Given the description of an element on the screen output the (x, y) to click on. 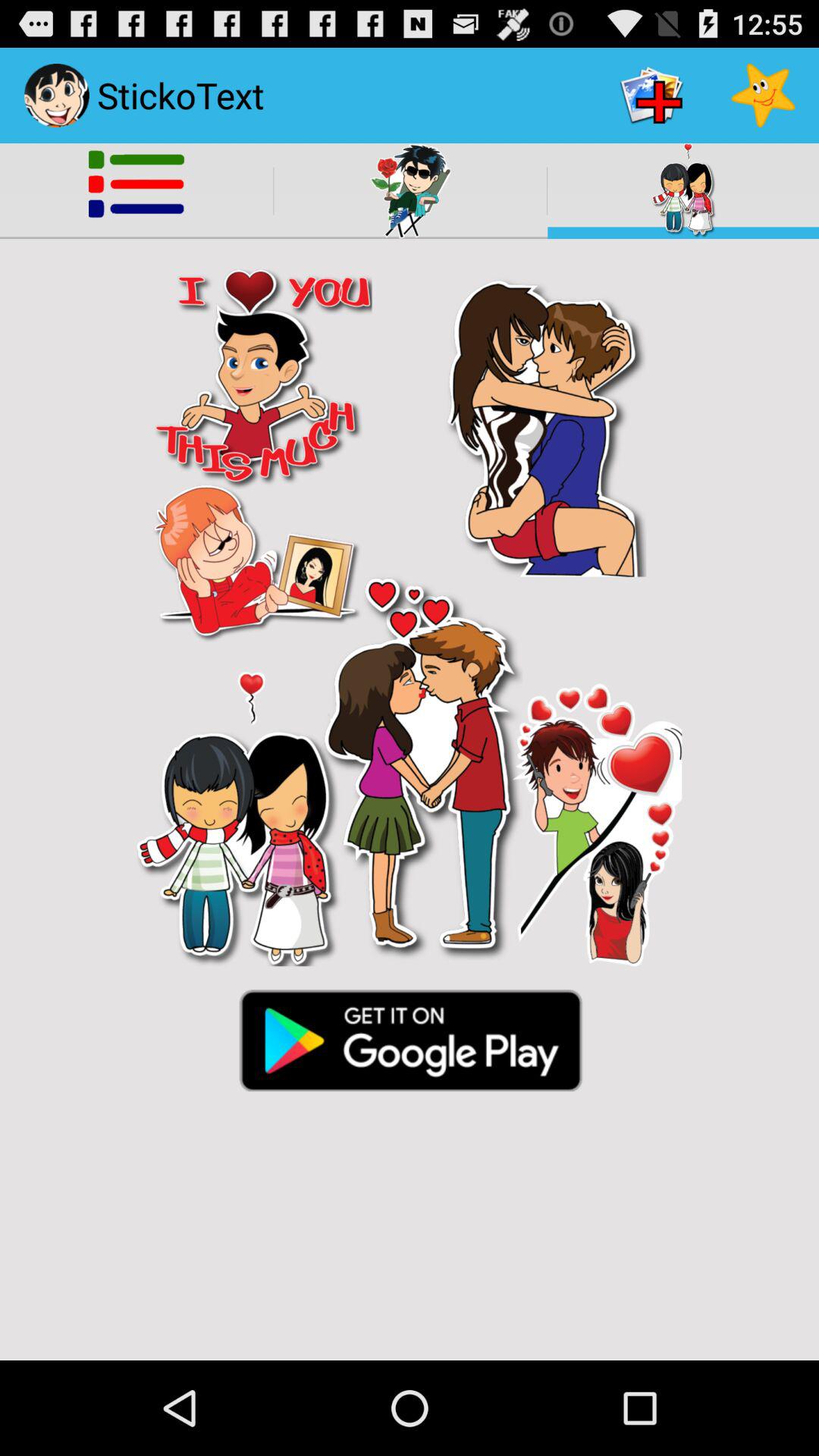
open google play (409, 1038)
